Given the description of an element on the screen output the (x, y) to click on. 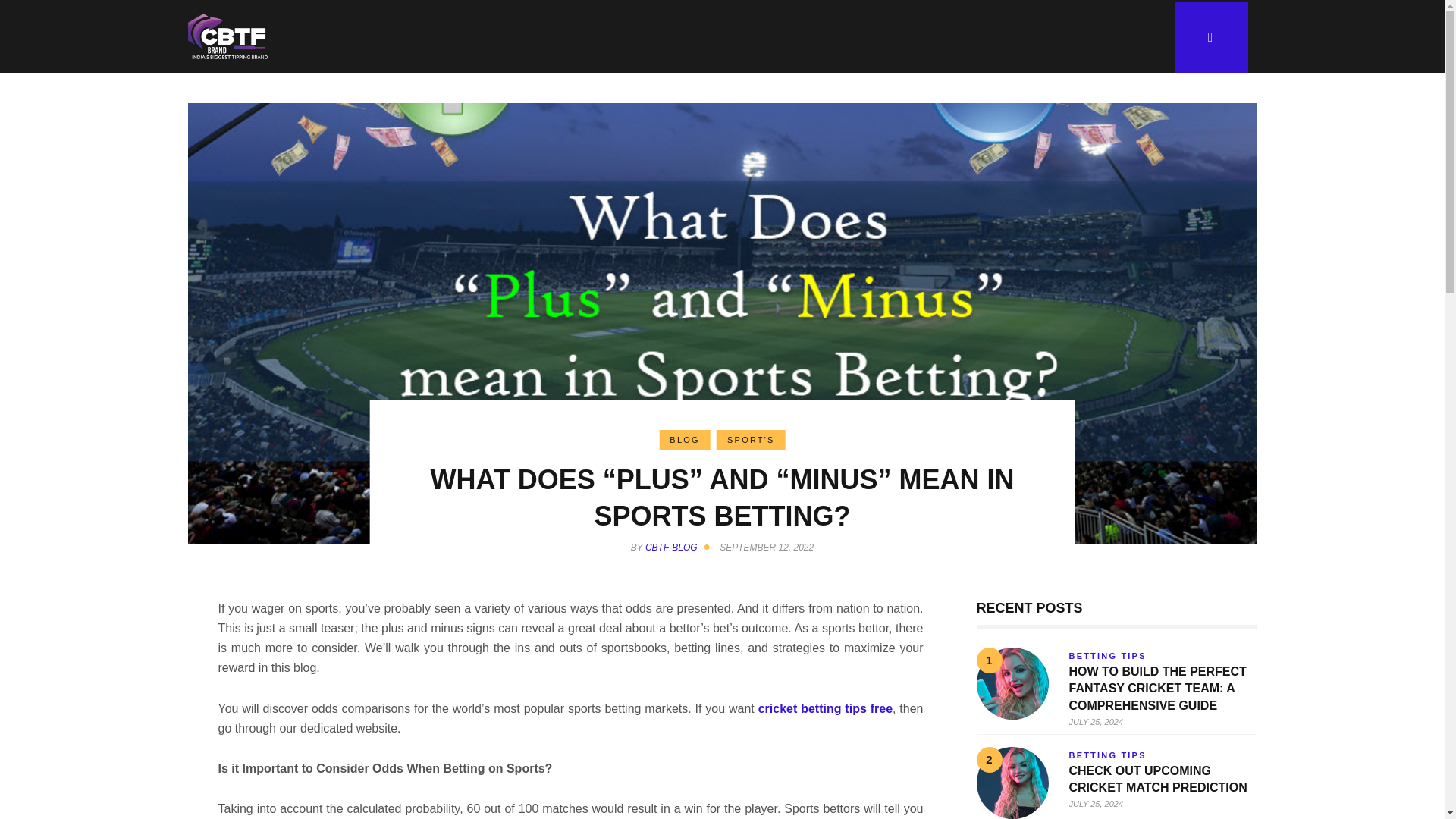
BY CBTF-BLOG (673, 547)
View all posts in Betting Tips (1107, 755)
SPORT'S (751, 439)
cricket betting tips free (825, 707)
BLOG (684, 439)
View all posts in Betting Tips (1107, 655)
